Given the description of an element on the screen output the (x, y) to click on. 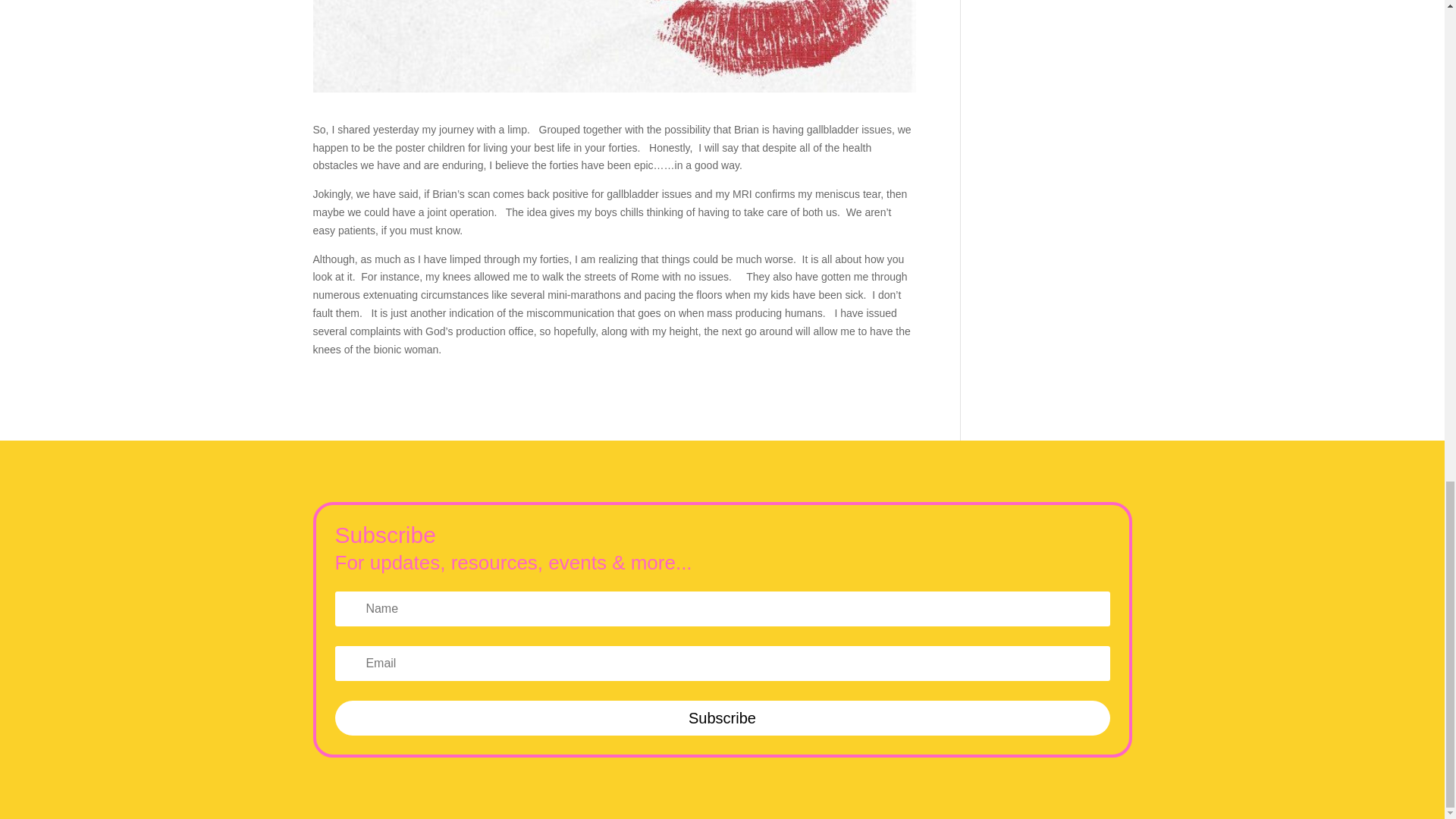
Subscribe (721, 718)
